Given the description of an element on the screen output the (x, y) to click on. 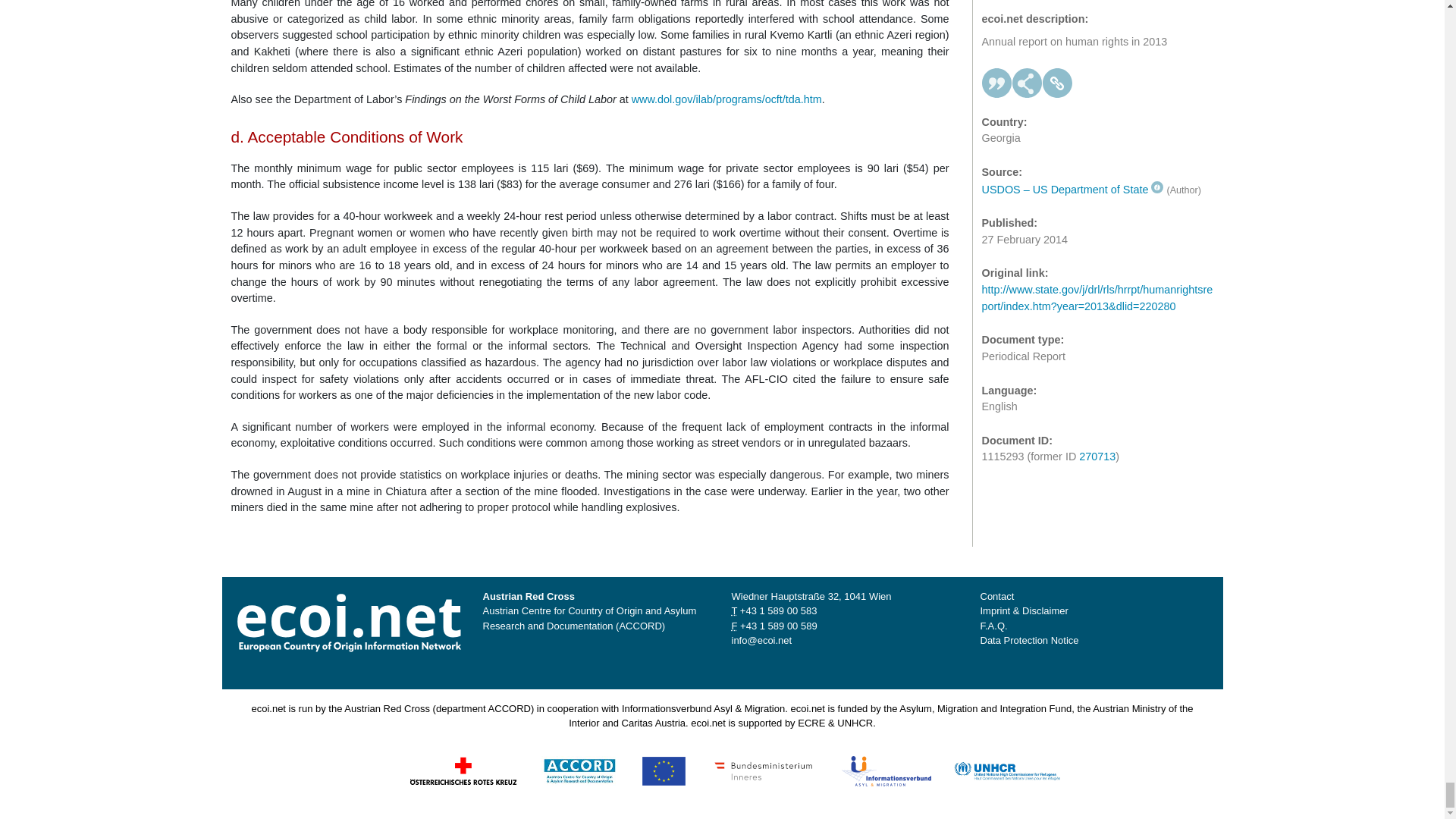
Telefax (777, 625)
Telephone (777, 610)
UNHCR - The UN Refugee Agency (1006, 769)
Austrian Red Cross (463, 769)
